Given the description of an element on the screen output the (x, y) to click on. 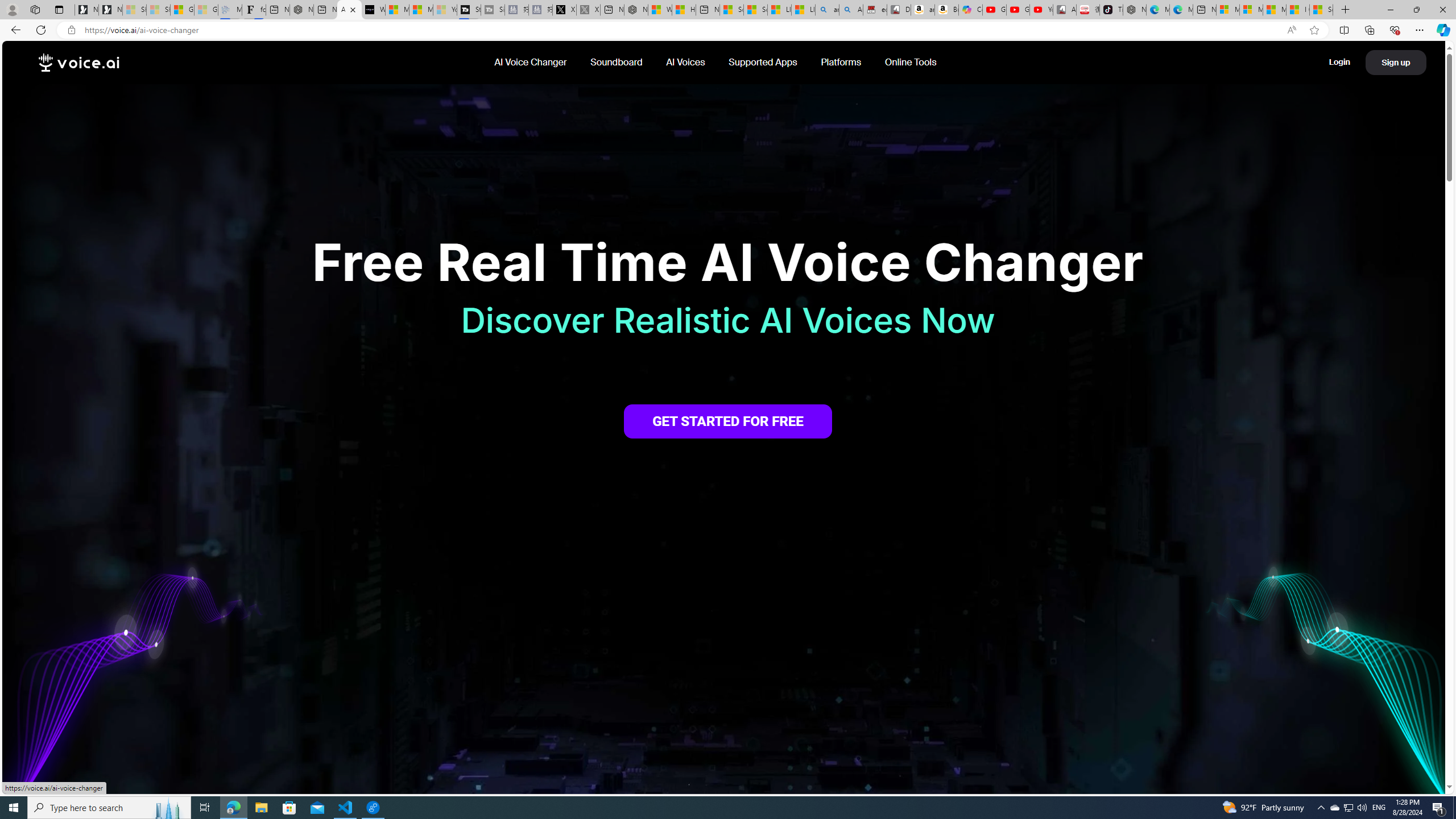
Copilot (970, 9)
Sign up (1395, 62)
Soundboard  (617, 61)
